Given the description of an element on the screen output the (x, y) to click on. 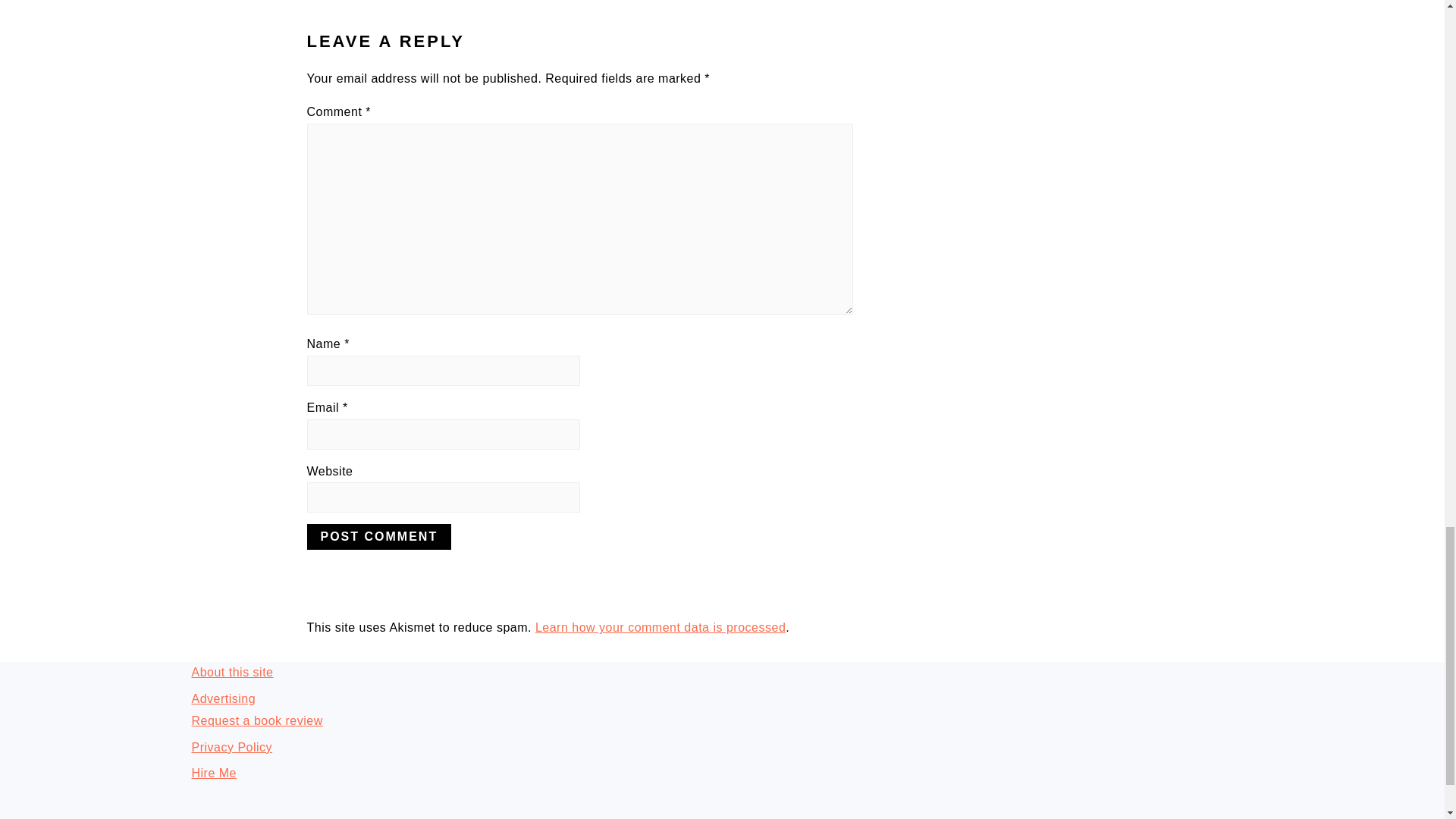
Learn how your comment data is processed (660, 626)
Request a book review (255, 720)
Advertising (223, 698)
Privacy Policy (231, 747)
About this site (231, 671)
Hire Me (212, 772)
Post Comment (378, 536)
Post Comment (378, 536)
